Given the description of an element on the screen output the (x, y) to click on. 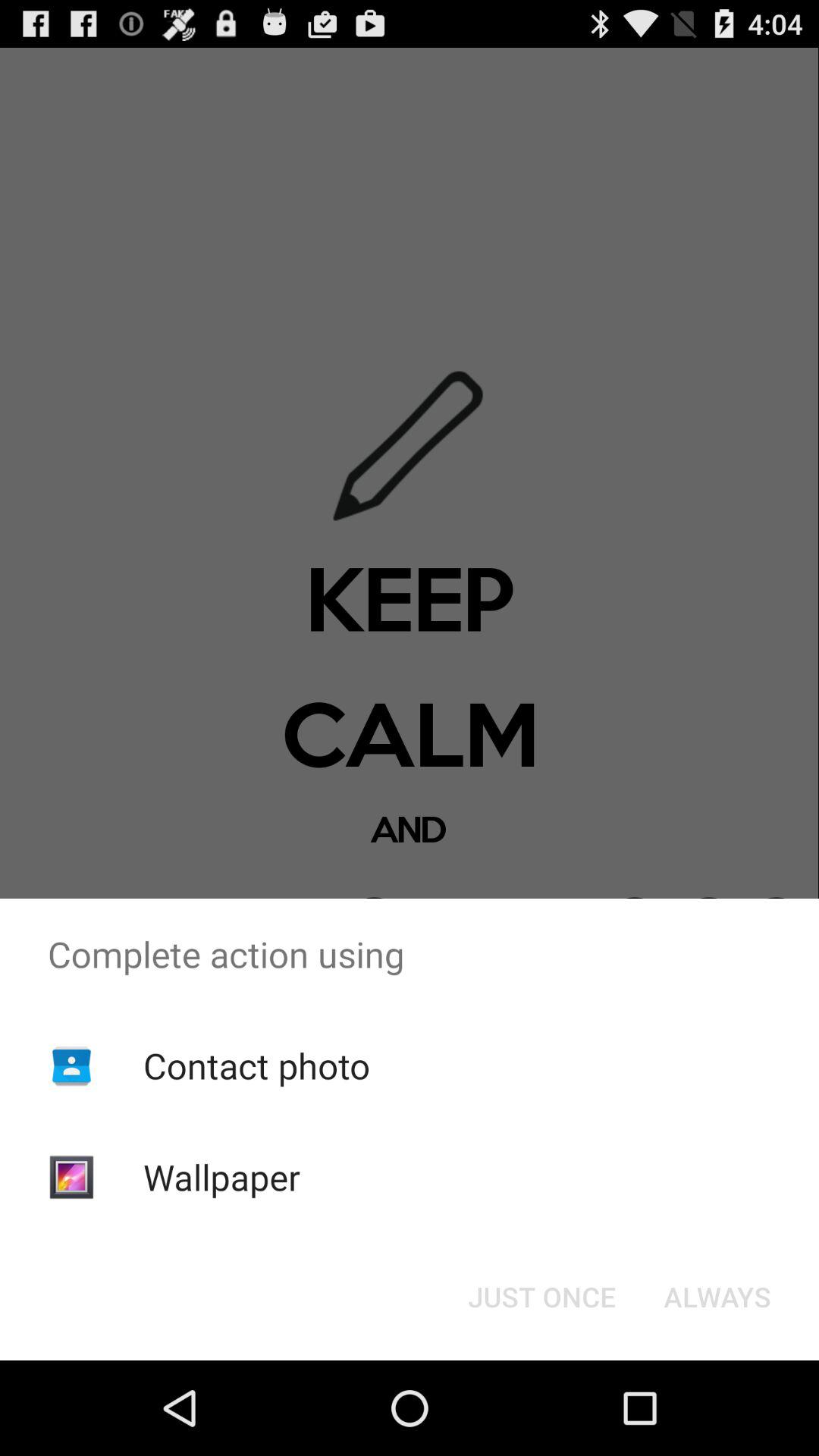
press button next to always item (541, 1296)
